Given the description of an element on the screen output the (x, y) to click on. 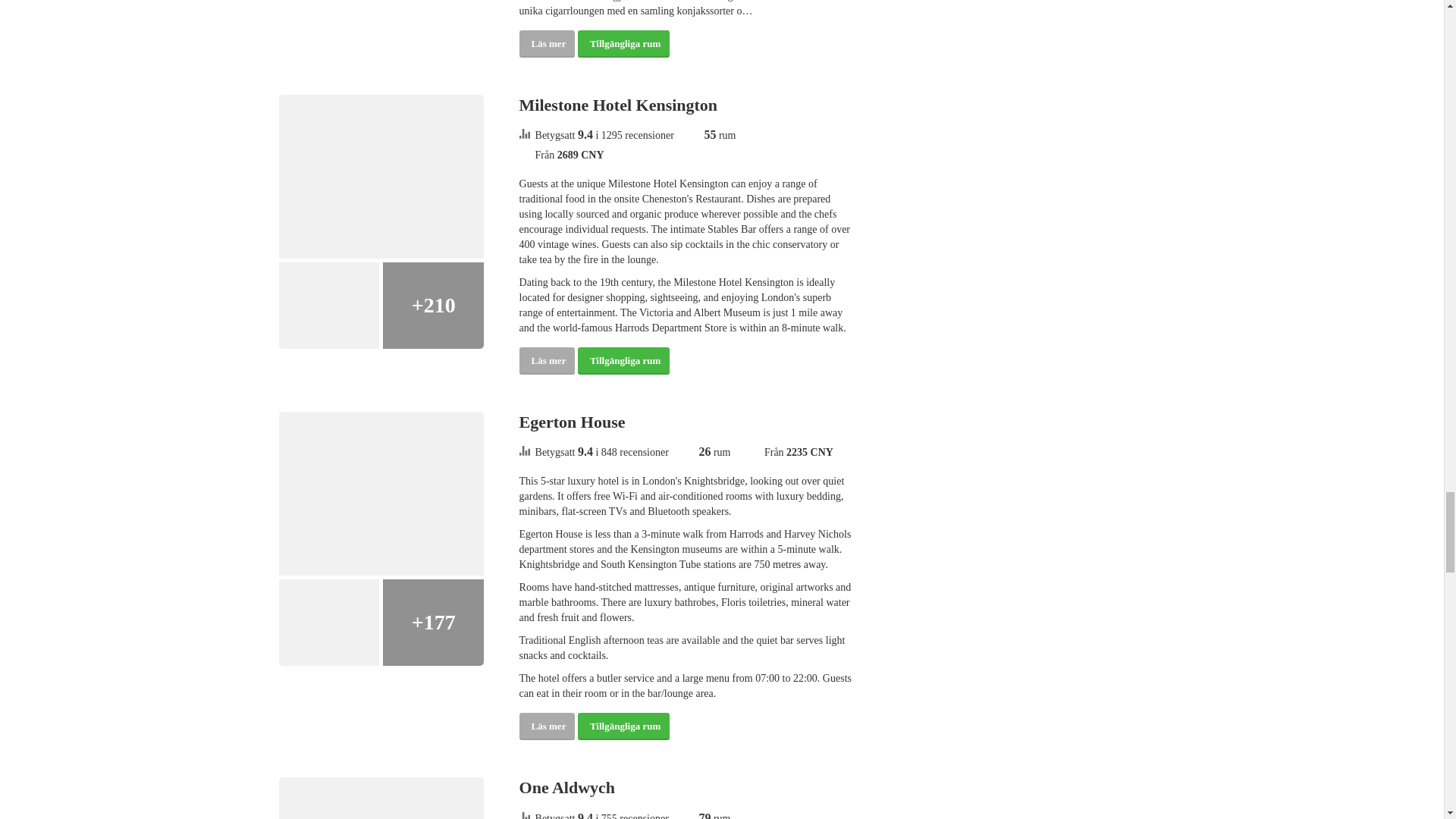
289 GBP (580, 153)
CNY (821, 451)
240 GBP (809, 451)
CNY (592, 153)
